Given the description of an element on the screen output the (x, y) to click on. 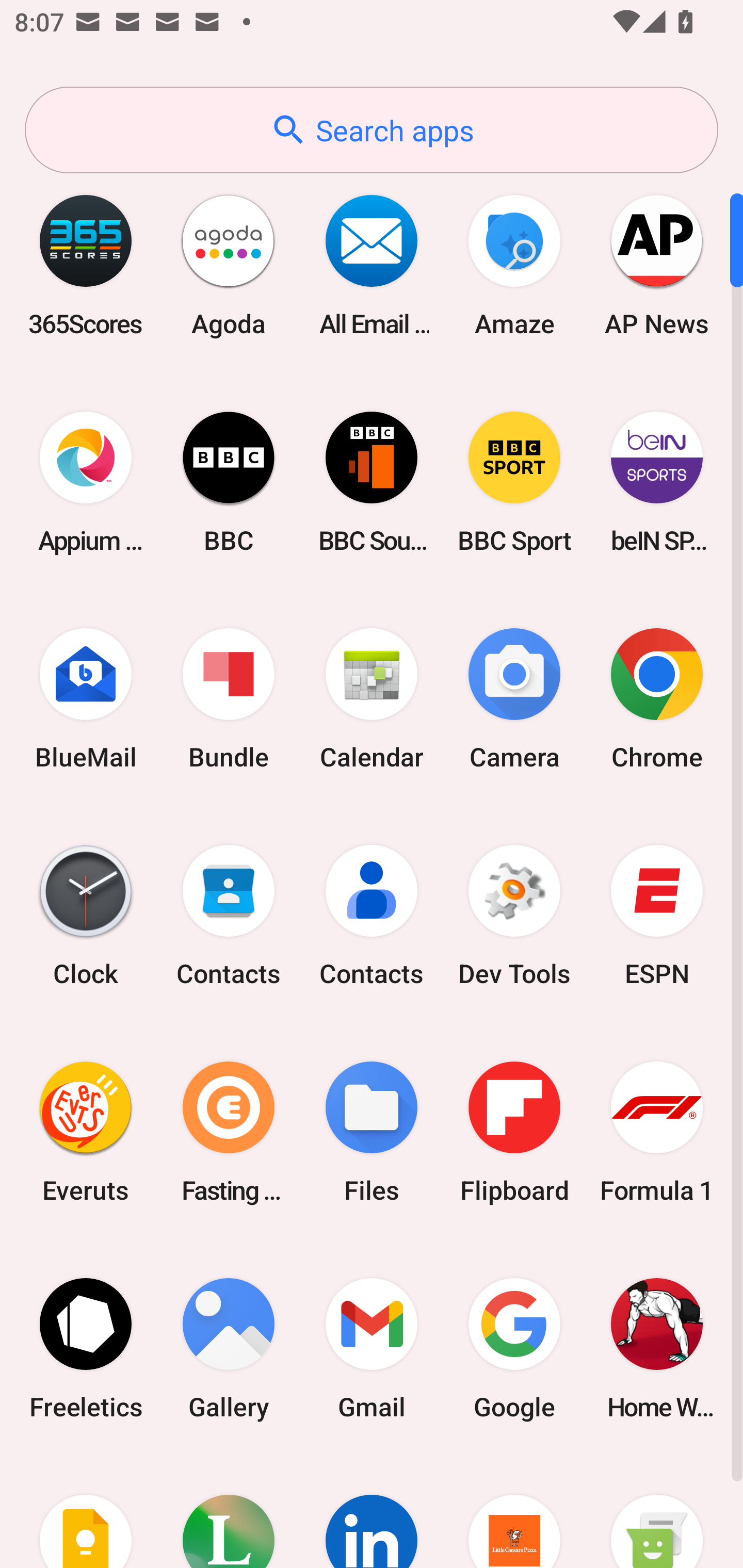
  Search apps (371, 130)
365Scores (85, 264)
Agoda (228, 264)
All Email Connect (371, 264)
Amaze (514, 264)
AP News (656, 264)
Appium Settings (85, 482)
BBC (228, 482)
BBC Sounds (371, 482)
BBC Sport (514, 482)
beIN SPORTS (656, 482)
BlueMail (85, 699)
Bundle (228, 699)
Calendar (371, 699)
Camera (514, 699)
Chrome (656, 699)
Clock (85, 915)
Contacts (228, 915)
Contacts (371, 915)
Dev Tools (514, 915)
ESPN (656, 915)
Everuts (85, 1131)
Fasting Coach (228, 1131)
Files (371, 1131)
Flipboard (514, 1131)
Formula 1 (656, 1131)
Freeletics (85, 1348)
Gallery (228, 1348)
Gmail (371, 1348)
Google (514, 1348)
Home Workout (656, 1348)
Keep Notes (85, 1512)
Lifesum (228, 1512)
LinkedIn (371, 1512)
Little Caesars Pizza (514, 1512)
Messaging (656, 1512)
